Given the description of an element on the screen output the (x, y) to click on. 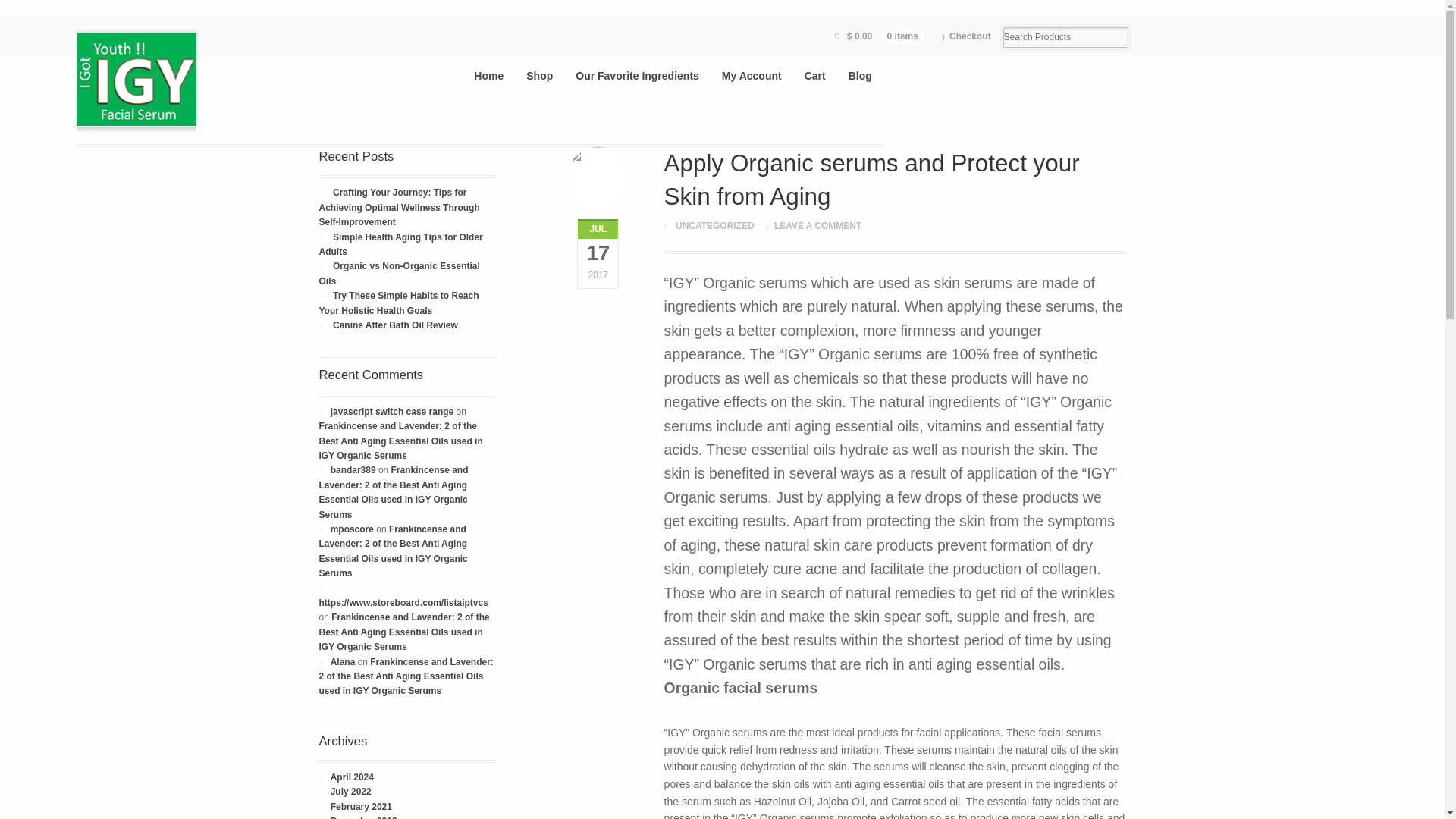
javascript switch case range (392, 411)
View your shopping cart (879, 37)
Our Favorite Ingredients (637, 75)
Try These Simple Habits to Reach Your Holistic Health Goals (398, 302)
Blog (860, 75)
Organic vs Non-Organic Essential Oils (399, 273)
My Account (751, 75)
Checkout (965, 37)
Simple Health Aging Tips for Older Adults (400, 244)
